Given the description of an element on the screen output the (x, y) to click on. 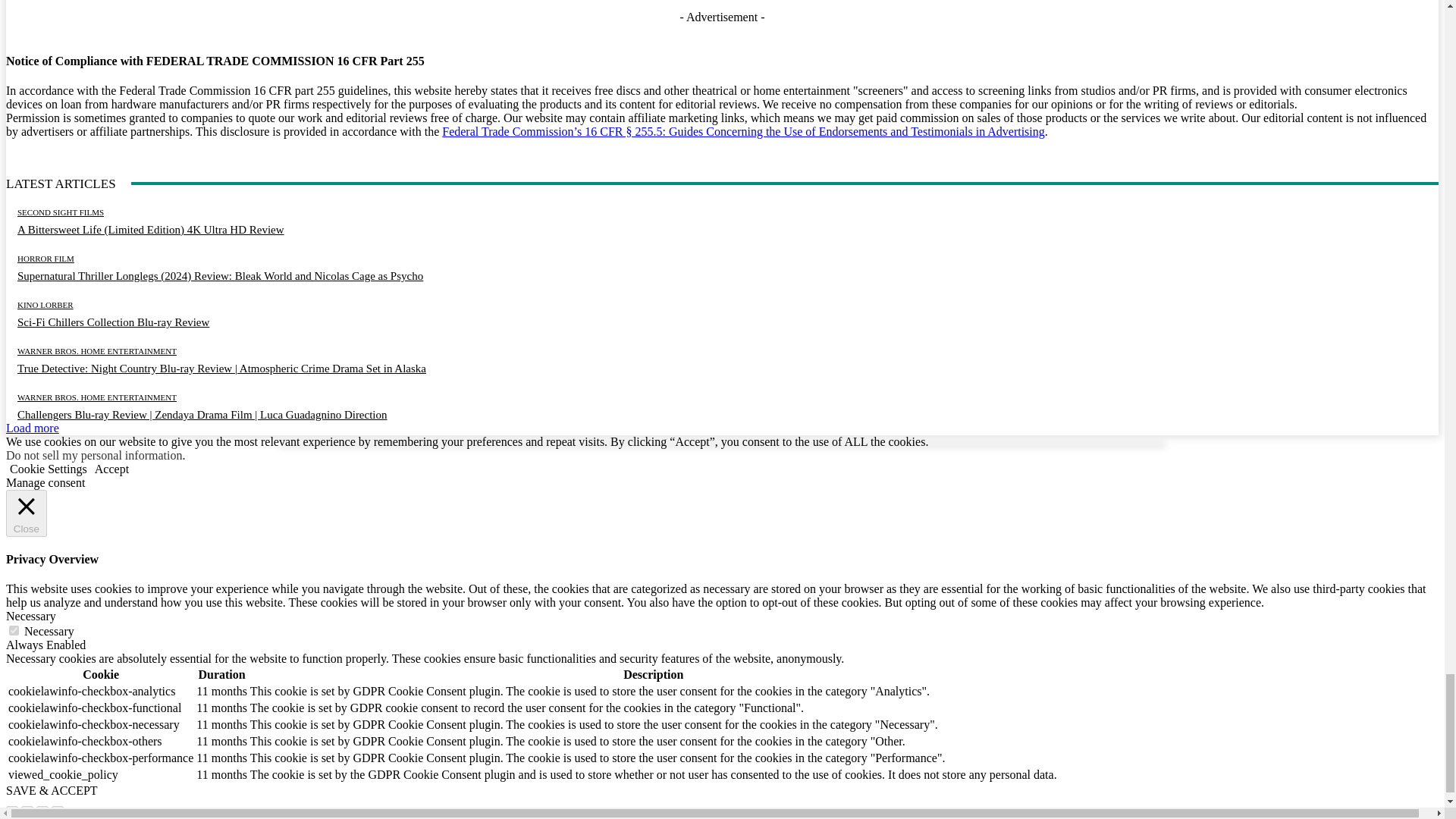
on (13, 630)
